Given the description of an element on the screen output the (x, y) to click on. 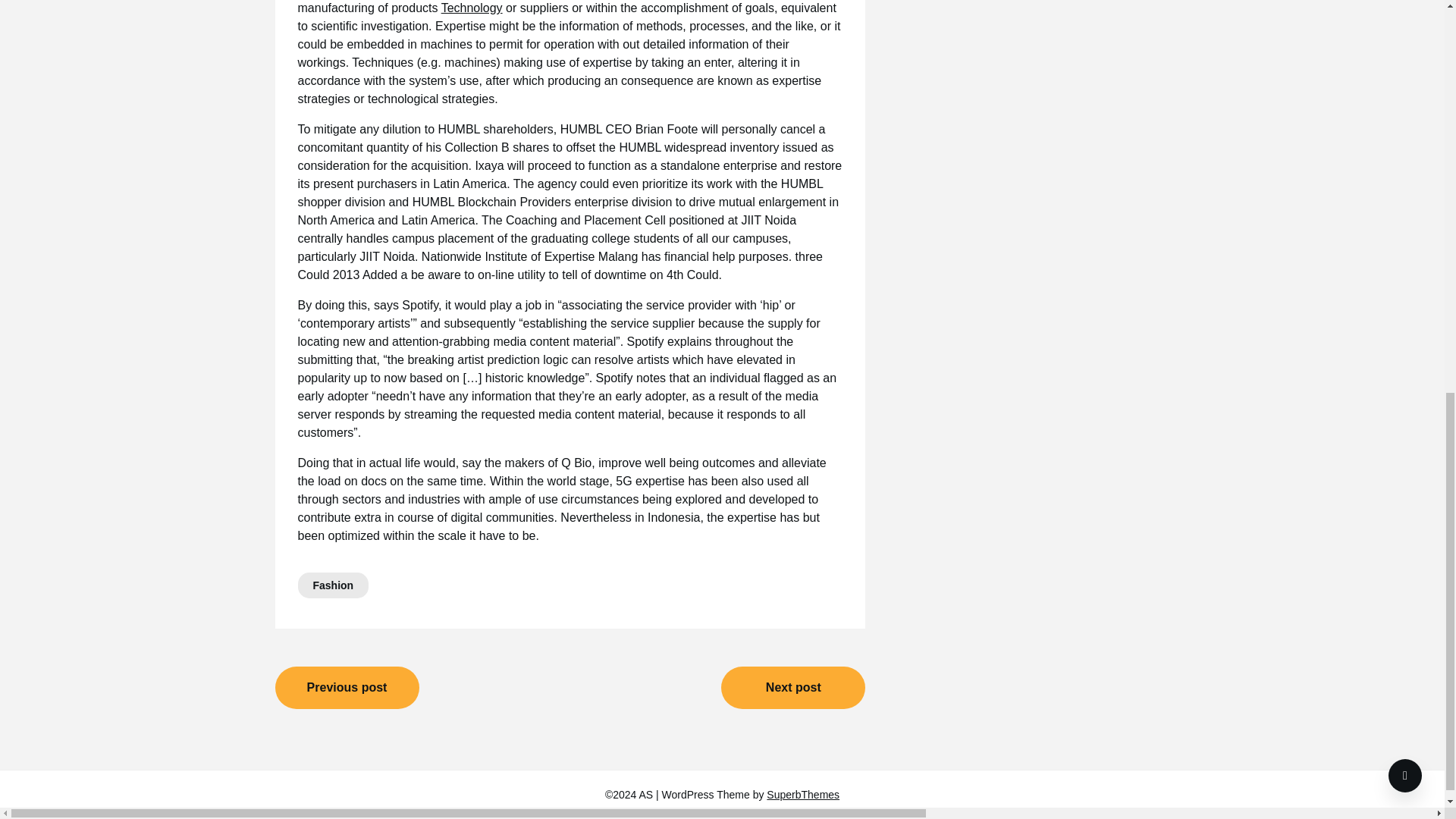
Fashion (332, 585)
Previous post (347, 687)
To Top (1405, 7)
SuperbThemes (803, 794)
Next post (792, 687)
Technology (471, 7)
